Given the description of an element on the screen output the (x, y) to click on. 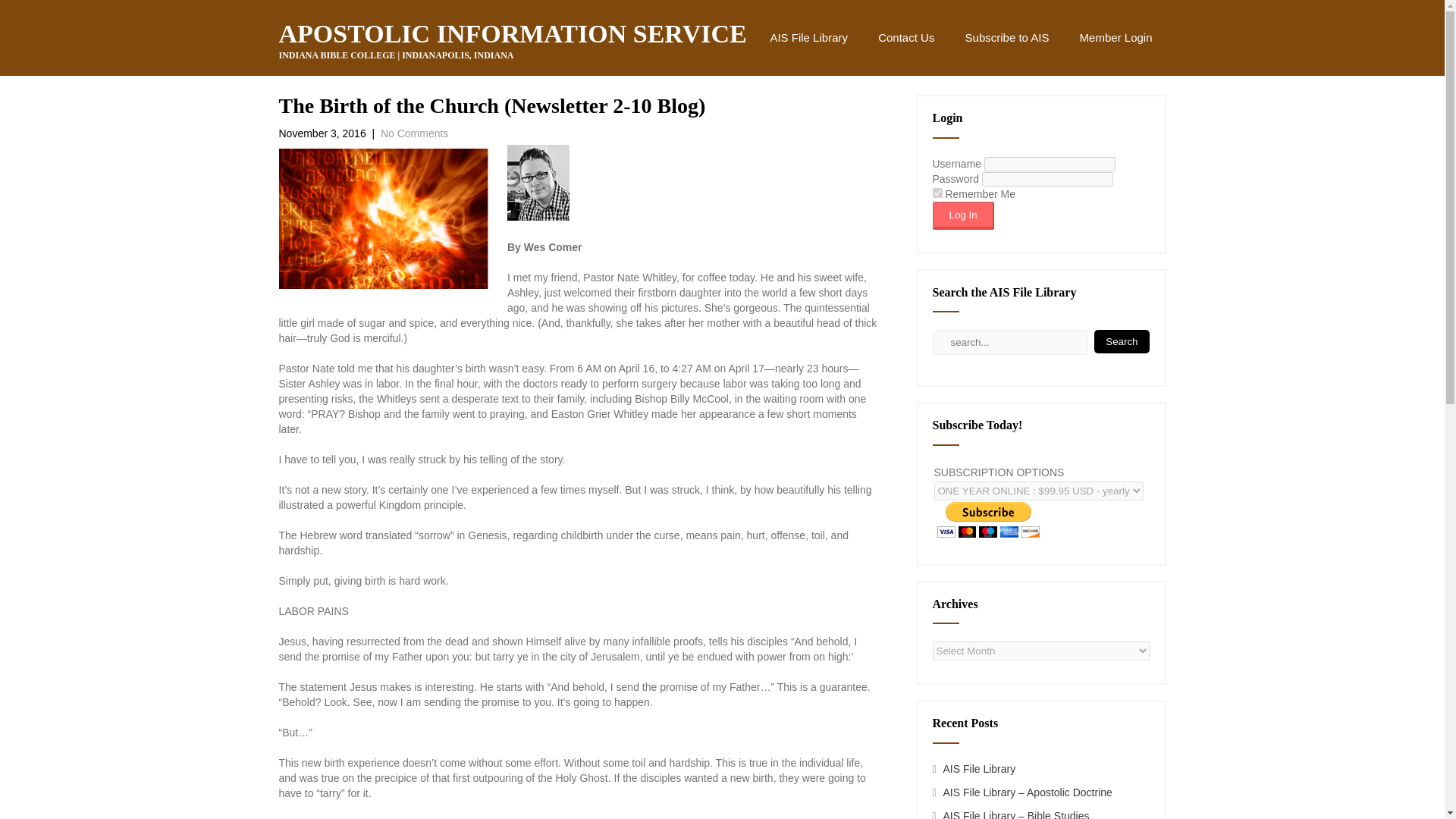
Log In (963, 215)
No Comments (414, 133)
Log In (963, 215)
Contact Us (905, 38)
Search (1121, 341)
Search (1121, 341)
Member Login (1115, 38)
AIS File Library (979, 768)
AIS File Library (808, 38)
Subscribe to AIS (1007, 38)
Search (1121, 341)
forever (937, 193)
